Given the description of an element on the screen output the (x, y) to click on. 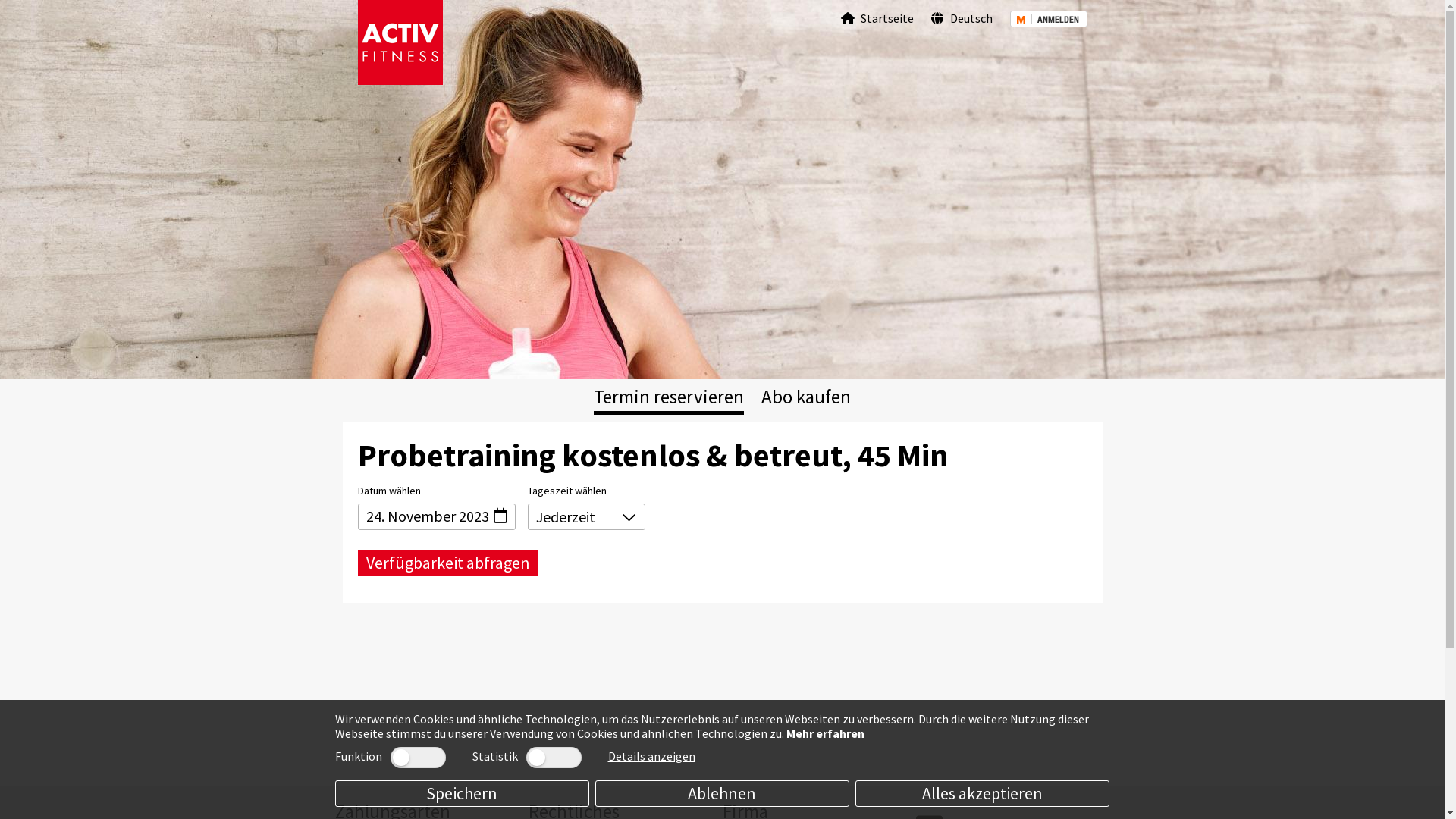
Abo kaufen Element type: text (805, 396)
Termin reservieren Element type: text (668, 396)
Details anzeigen Element type: text (651, 755)
Mehr erfahren Element type: text (824, 732)
ANMELDEN Element type: text (1048, 18)
Startseite Element type: text (876, 18)
